Given the description of an element on the screen output the (x, y) to click on. 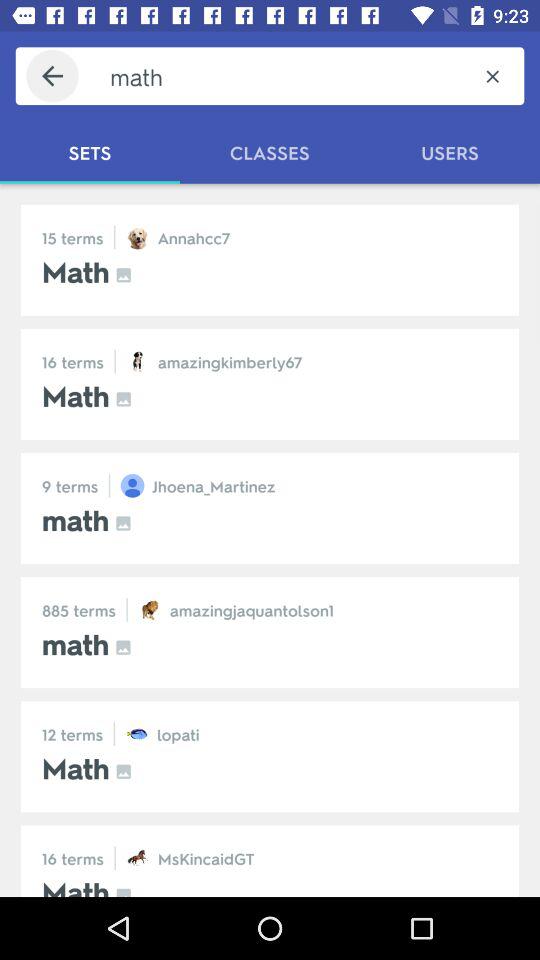
turn off the icon next to the math icon (52, 75)
